Given the description of an element on the screen output the (x, y) to click on. 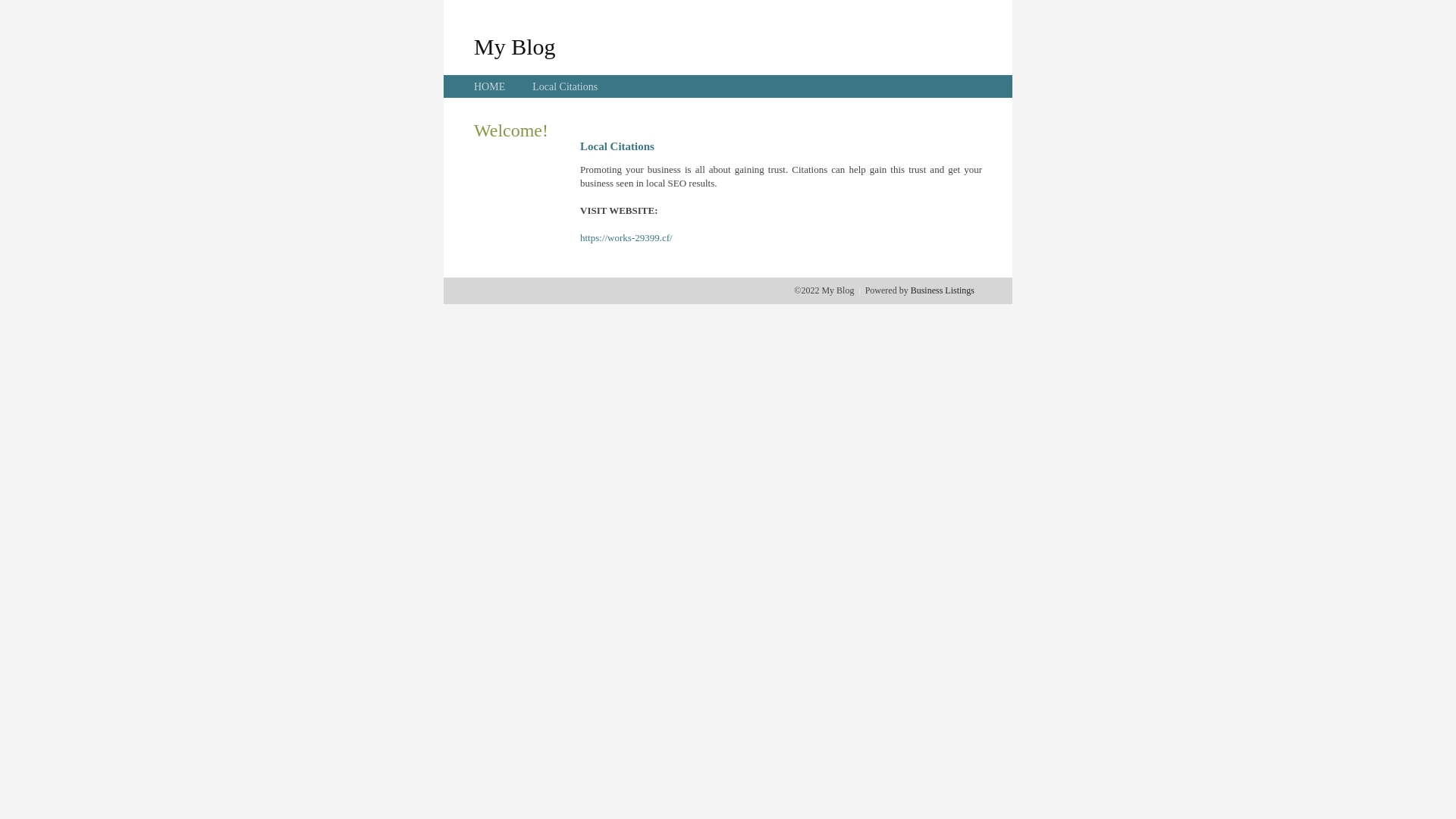
https://works-29399.cf/ Element type: text (626, 237)
Local Citations Element type: text (564, 86)
HOME Element type: text (489, 86)
My Blog Element type: text (514, 46)
Business Listings Element type: text (942, 290)
